Given the description of an element on the screen output the (x, y) to click on. 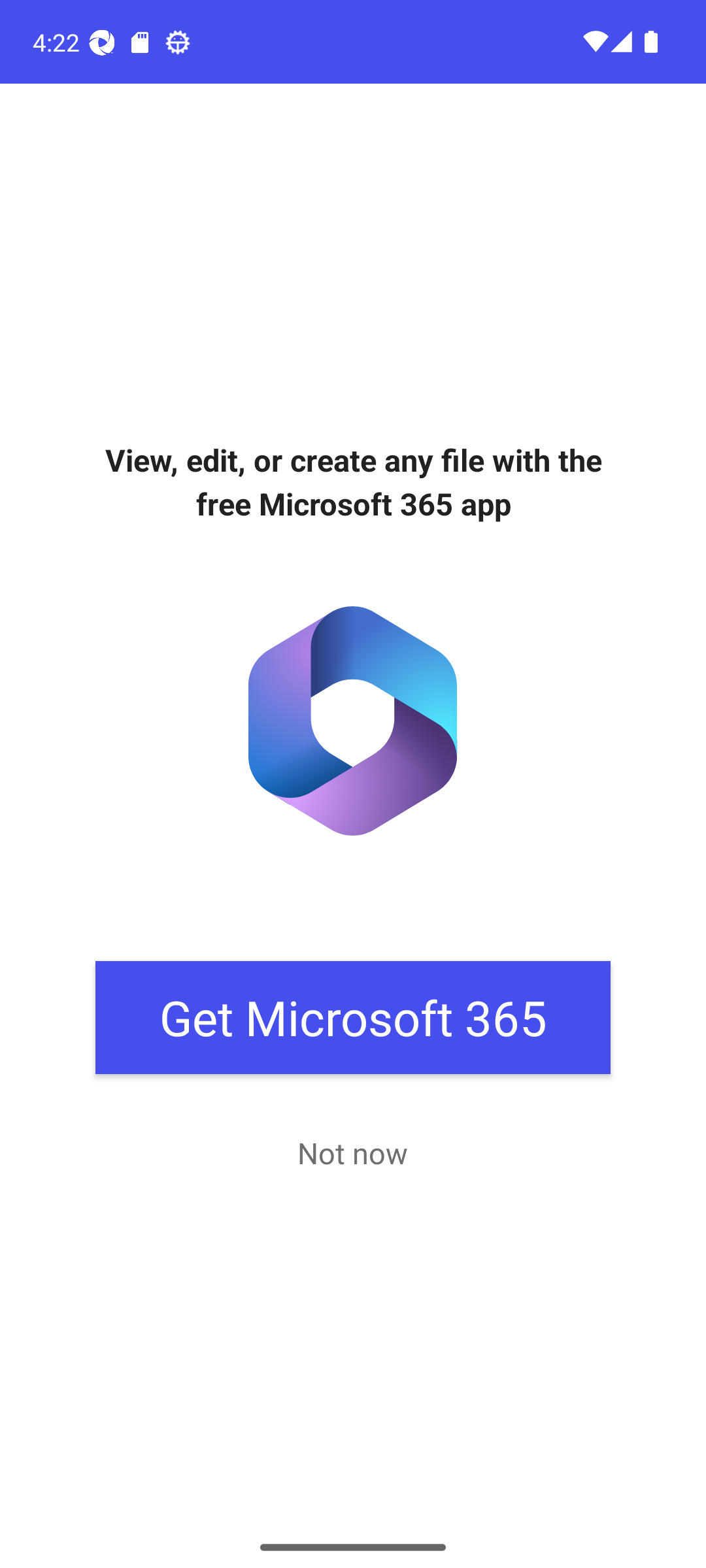
Get Microsoft 365 (352, 1017)
Not now (352, 1152)
